Given the description of an element on the screen output the (x, y) to click on. 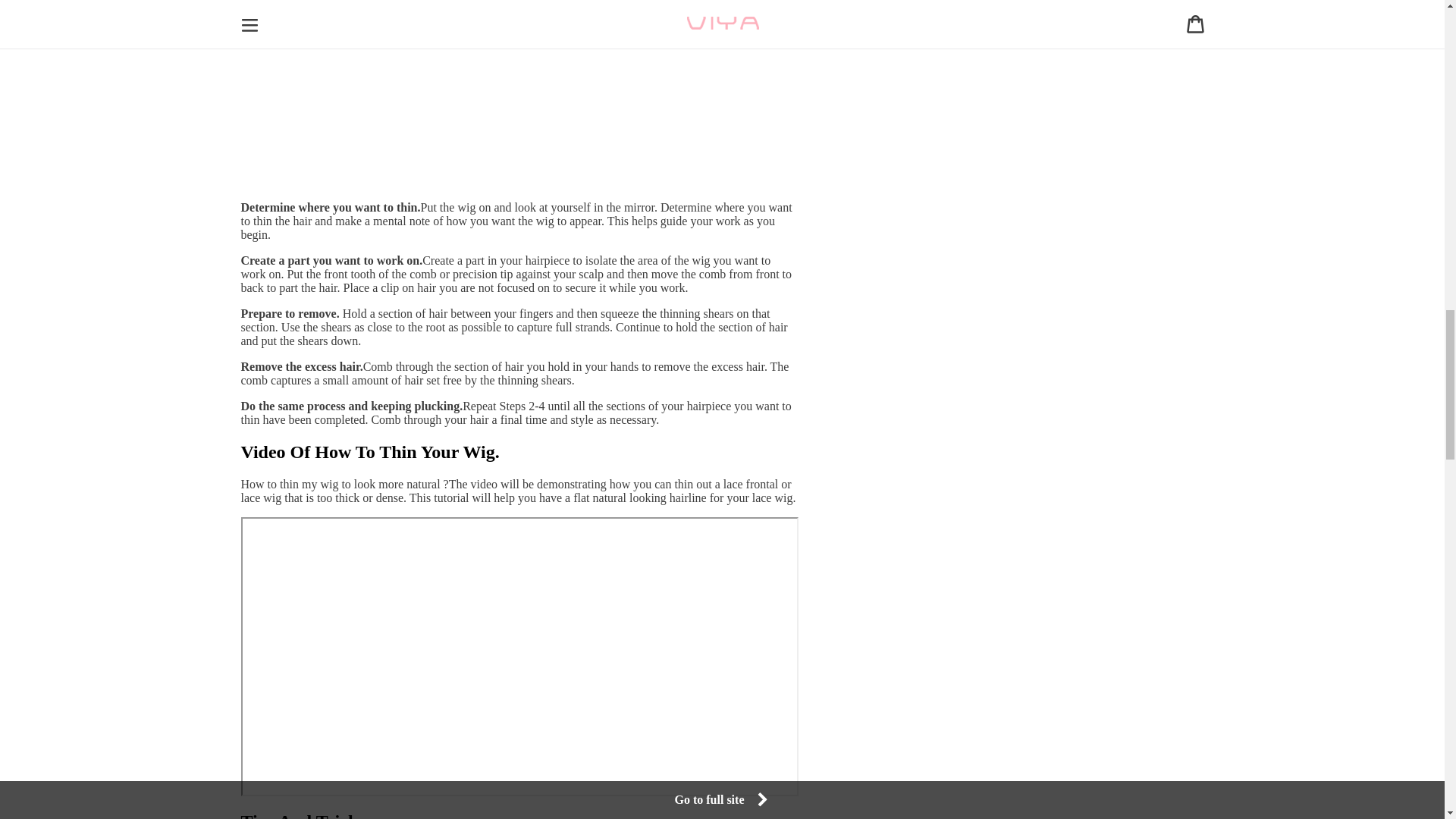
 lace wig (771, 497)
